Given the description of an element on the screen output the (x, y) to click on. 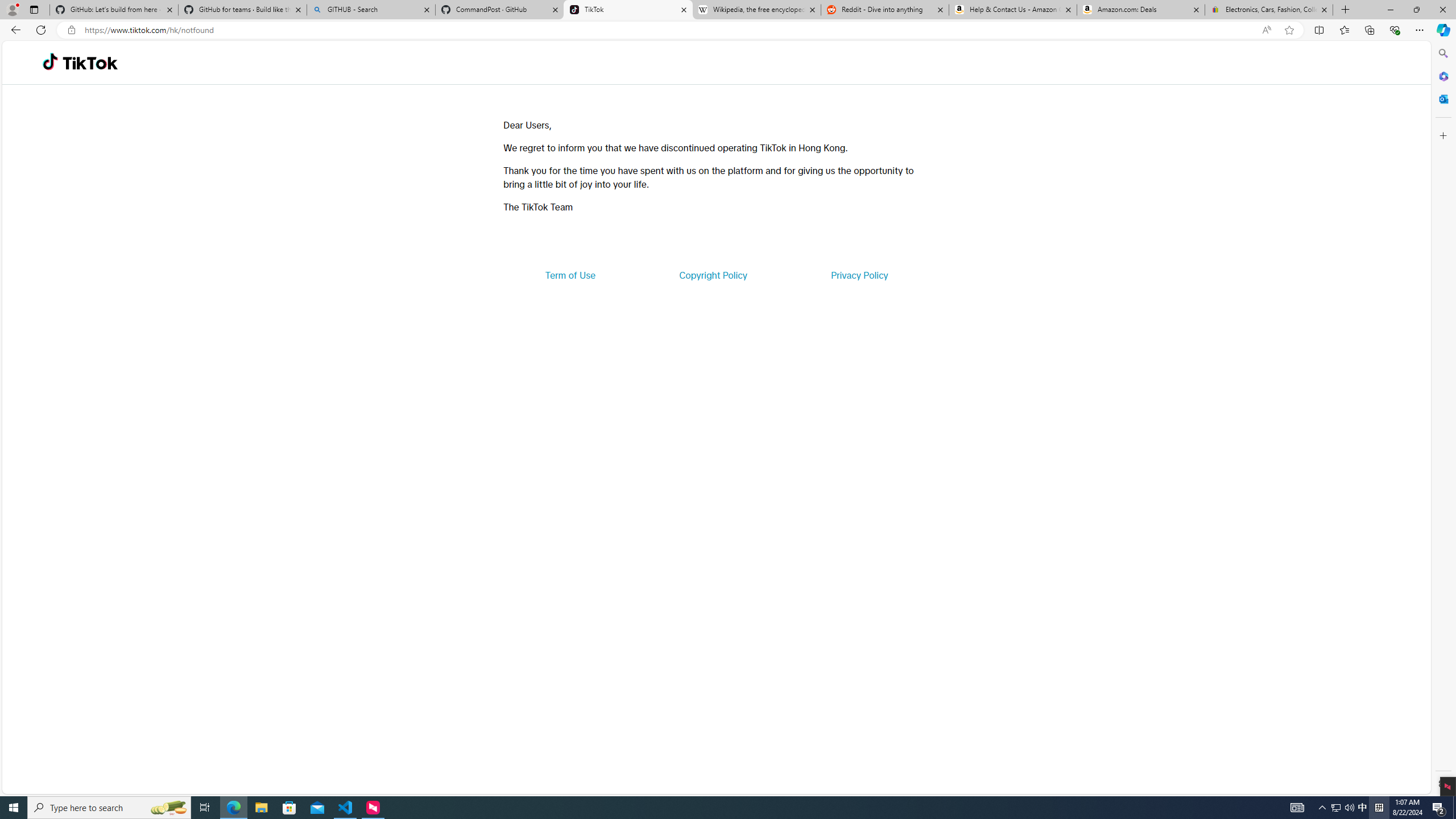
Help & Contact Us - Amazon Customer Service (1012, 9)
TikTok (628, 9)
Wikipedia, the free encyclopedia (756, 9)
